Given the description of an element on the screen output the (x, y) to click on. 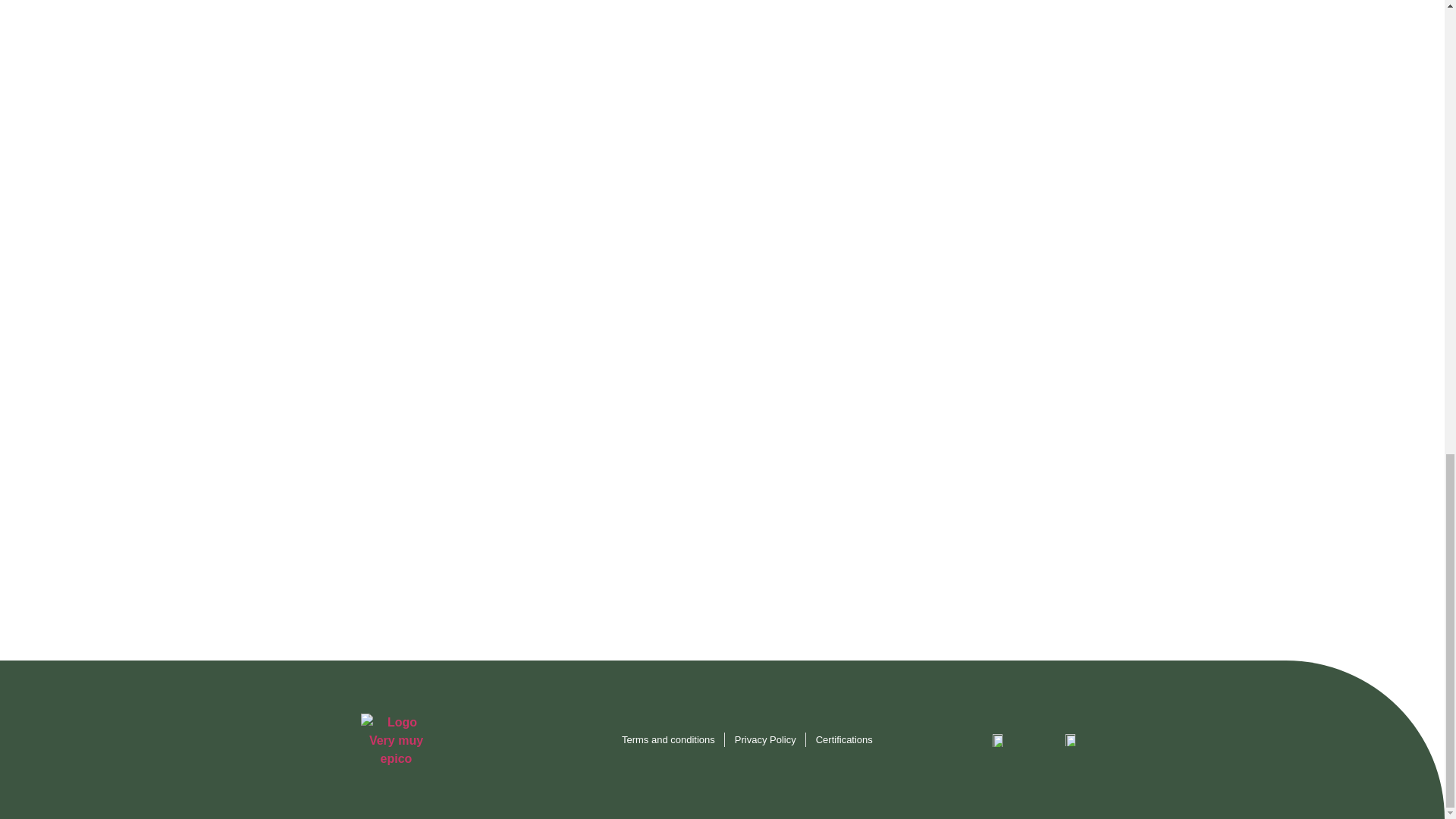
Terms and conditions (667, 739)
Privacy Policy (765, 739)
Certifications (843, 739)
